Given the description of an element on the screen output the (x, y) to click on. 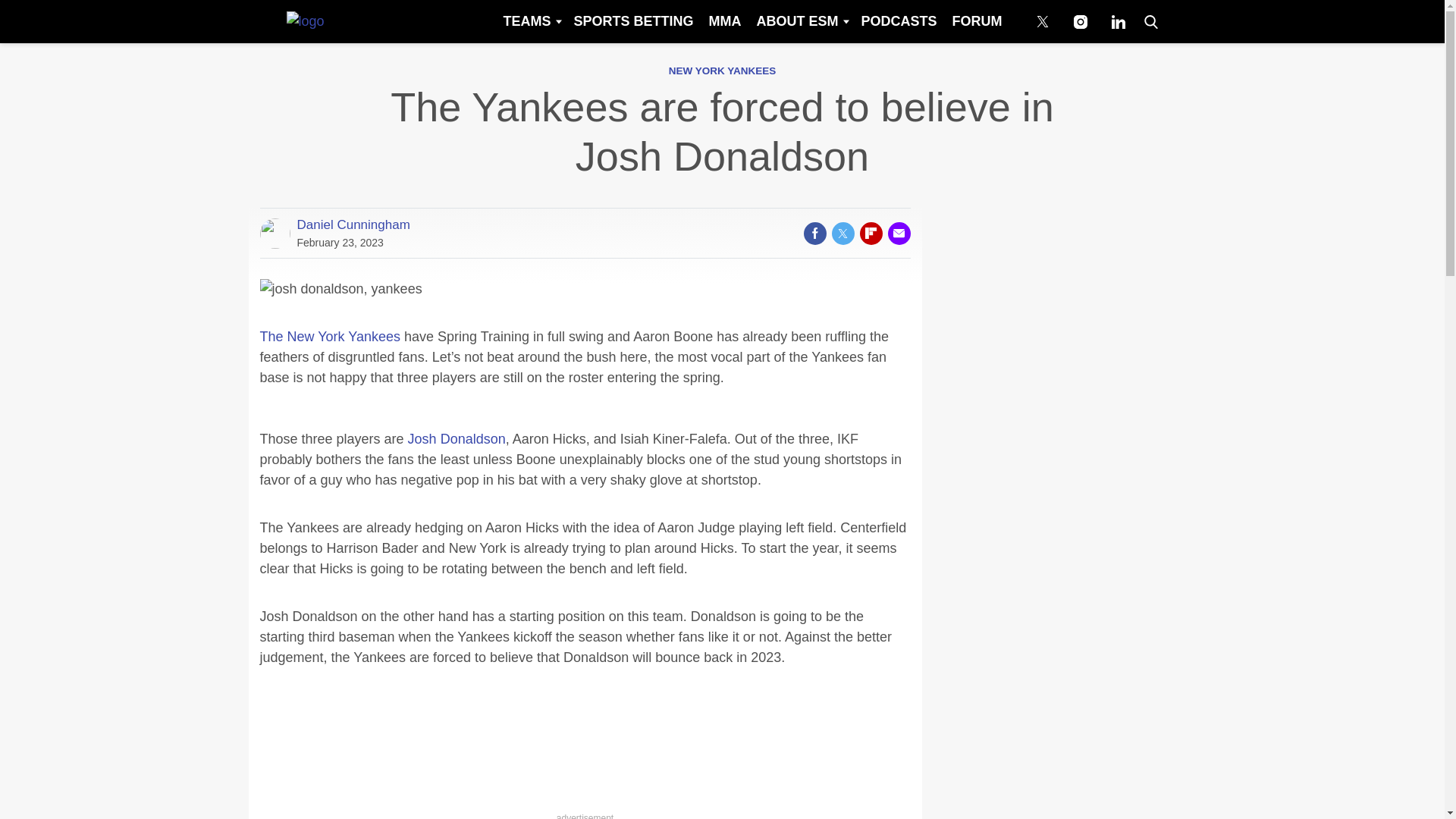
FORUM (977, 21)
Josh Donaldson (456, 438)
Follow us on Twitter (1042, 21)
SPORTS BETTING (633, 21)
Share via Email (898, 232)
PODCASTS (898, 21)
Daniel Cunningham (353, 225)
ABOUT ESM (800, 21)
Follow us on Instagram (1080, 21)
Share on Flipboard (871, 232)
TEAMS (530, 21)
Connect with us on LinkedIn (1118, 21)
Share on Twitter (842, 232)
NEW YORK YANKEES (722, 70)
The New York Yankees (328, 336)
